Given the description of an element on the screen output the (x, y) to click on. 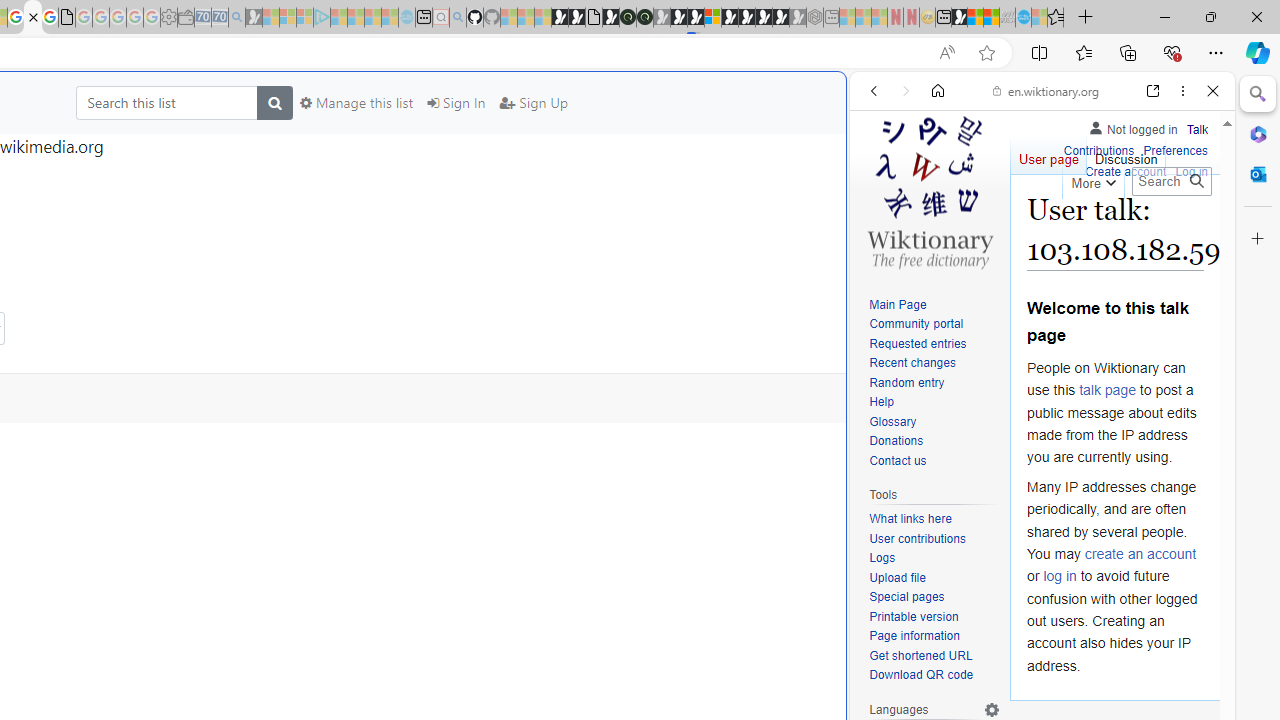
Search Wiktionary (1171, 181)
Page information (934, 637)
Download QR code (934, 676)
Microsoft Start Gaming - Sleeping (253, 17)
What links here (910, 519)
Settings - Sleeping (168, 17)
Home | Sky Blue Bikes - Sky Blue Bikes (687, 426)
Wiktionary (1034, 669)
Class: b_serphb (1190, 229)
